Given the description of an element on the screen output the (x, y) to click on. 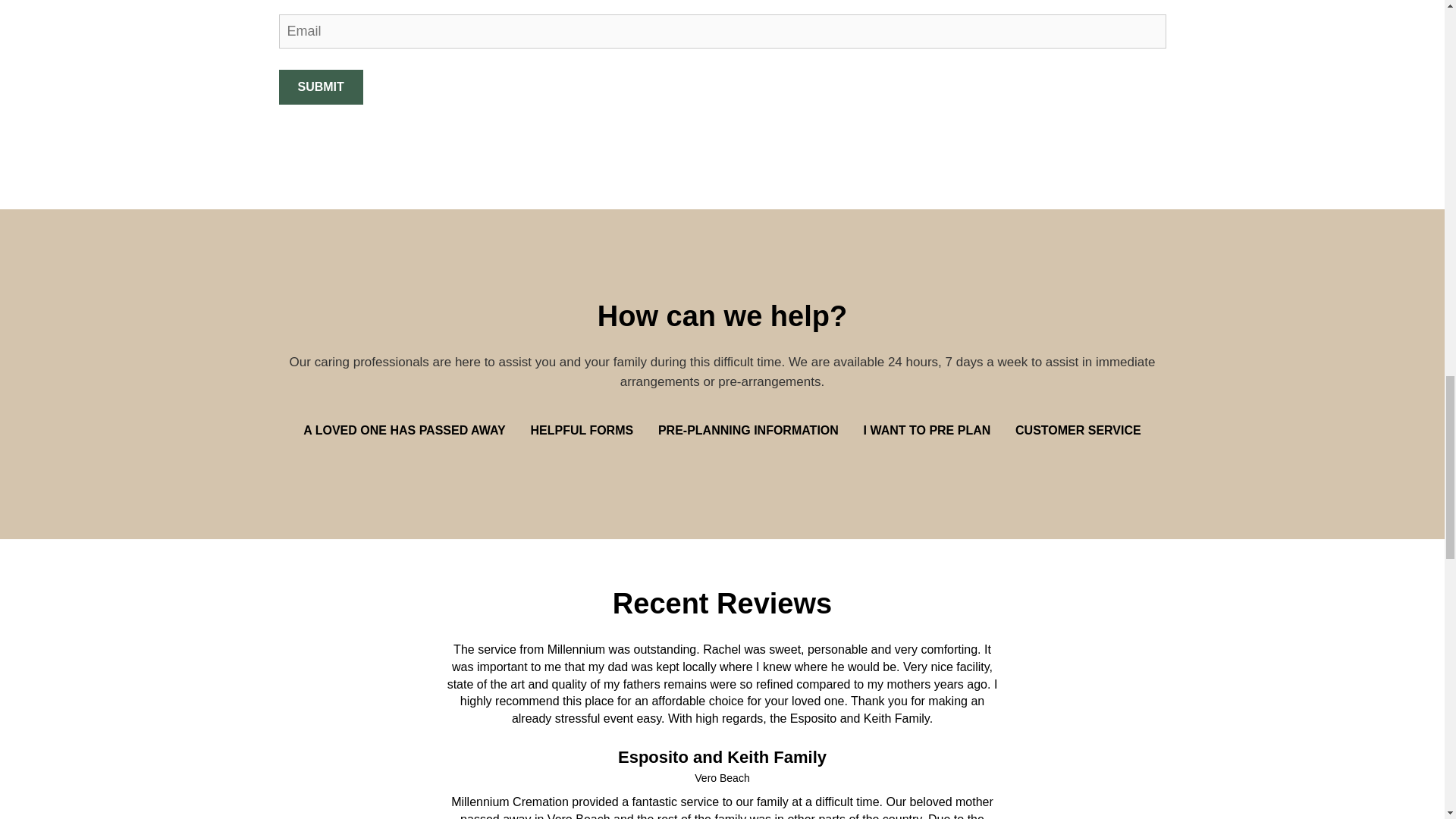
A LOVED ONE HAS PASSED AWAY (408, 430)
PRE-PLANNING INFORMATION (747, 430)
CUSTOMER SERVICE (1072, 430)
Submit (320, 87)
I WANT TO PRE PLAN (927, 430)
Submit (320, 87)
HELPFUL FORMS (581, 430)
